Given the description of an element on the screen output the (x, y) to click on. 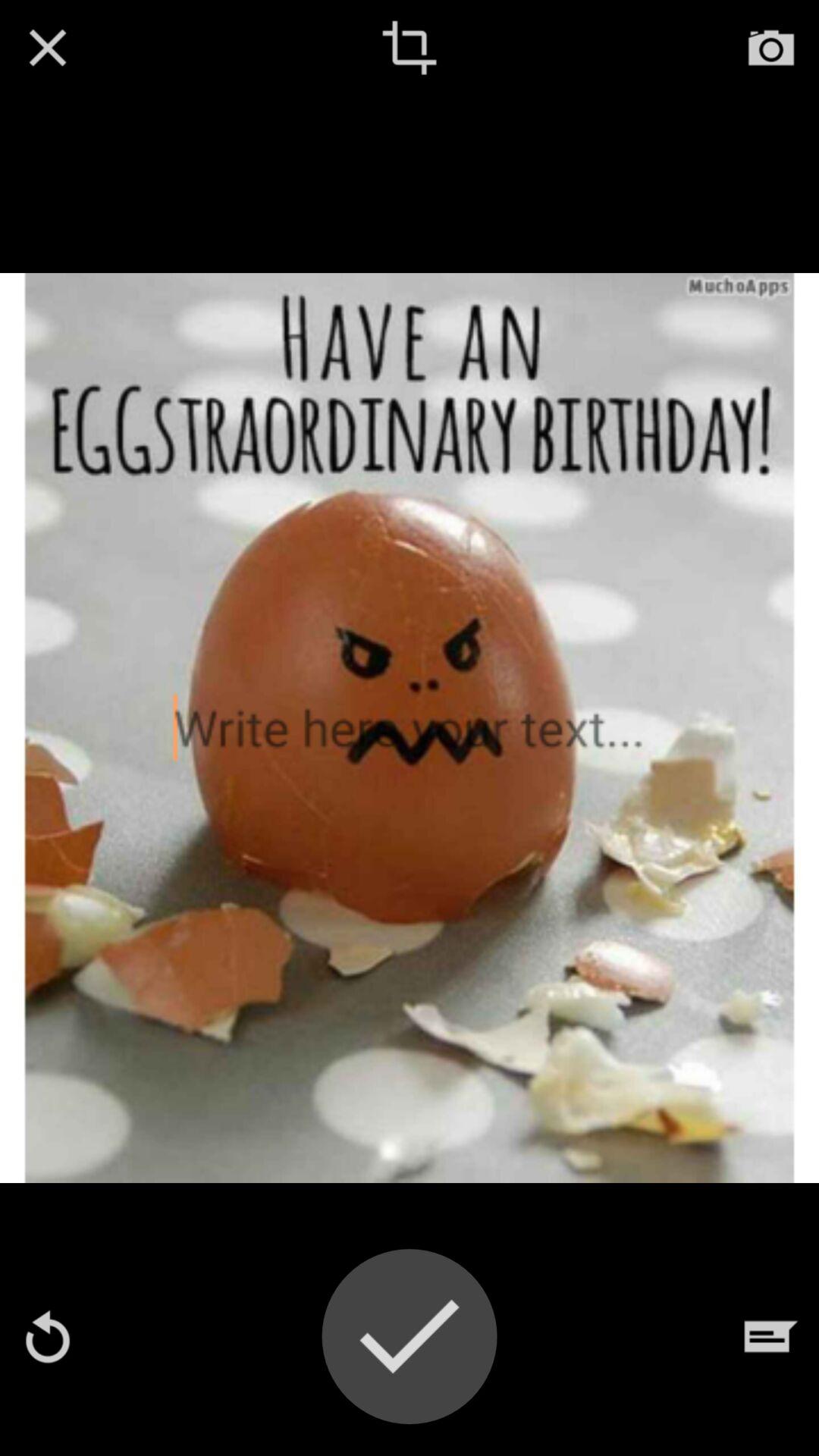
back ward (47, 1336)
